Given the description of an element on the screen output the (x, y) to click on. 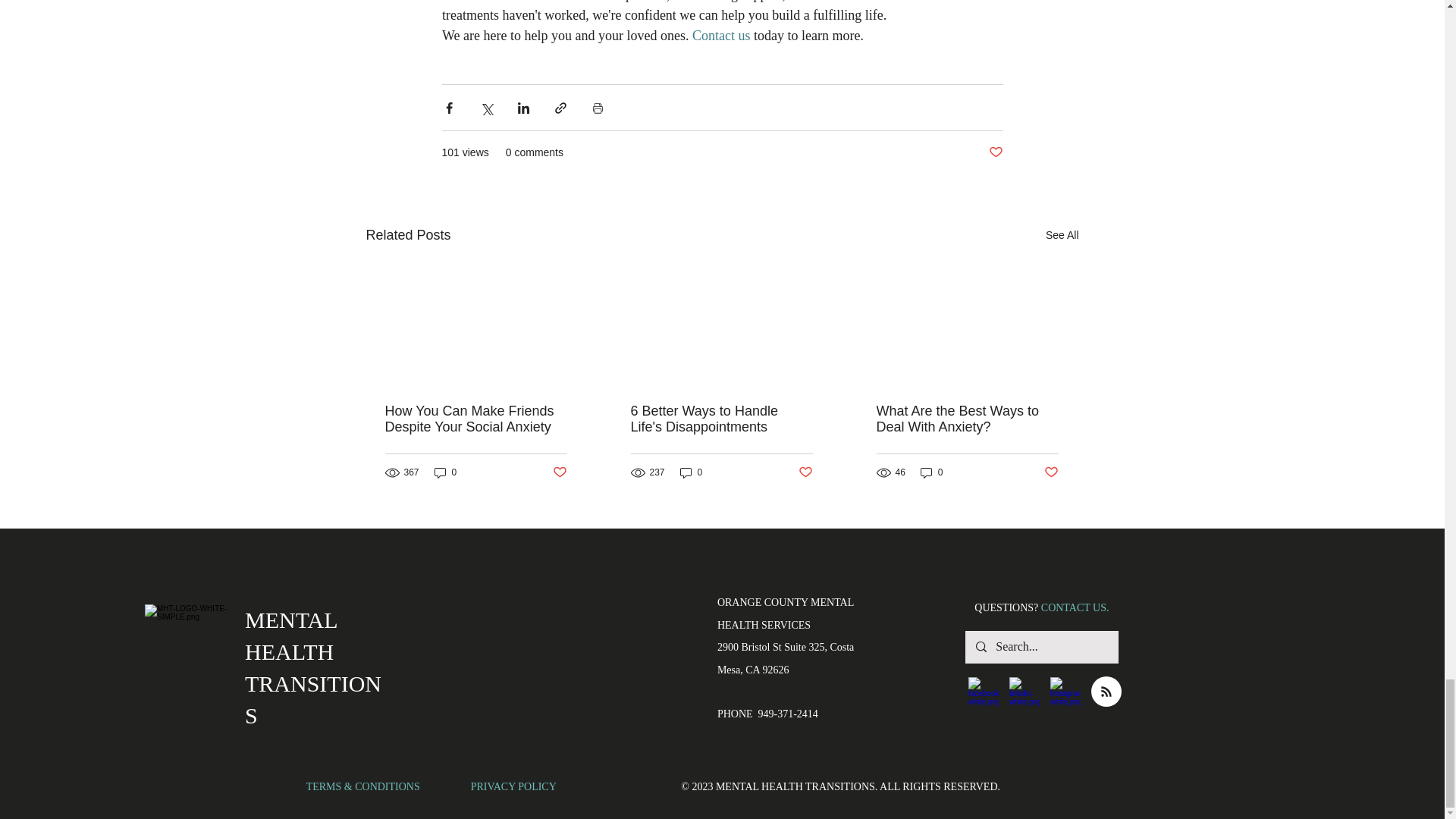
6 Better Ways to Handle Life's Disappointments (721, 418)
Post not marked as liked (995, 152)
Post not marked as liked (804, 472)
0 (931, 472)
See All (1061, 235)
How You Can Make Friends Despite Your Social Anxiety (476, 418)
Post not marked as liked (558, 472)
What Are the Best Ways to Deal With Anxiety? (967, 418)
0 (691, 472)
0 (445, 472)
